Given the description of an element on the screen output the (x, y) to click on. 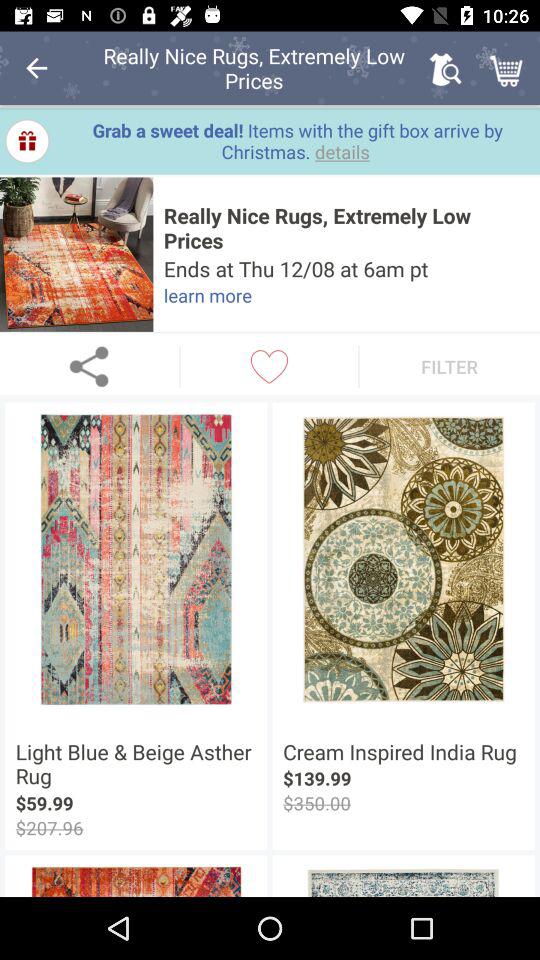
click filter (449, 366)
